Given the description of an element on the screen output the (x, y) to click on. 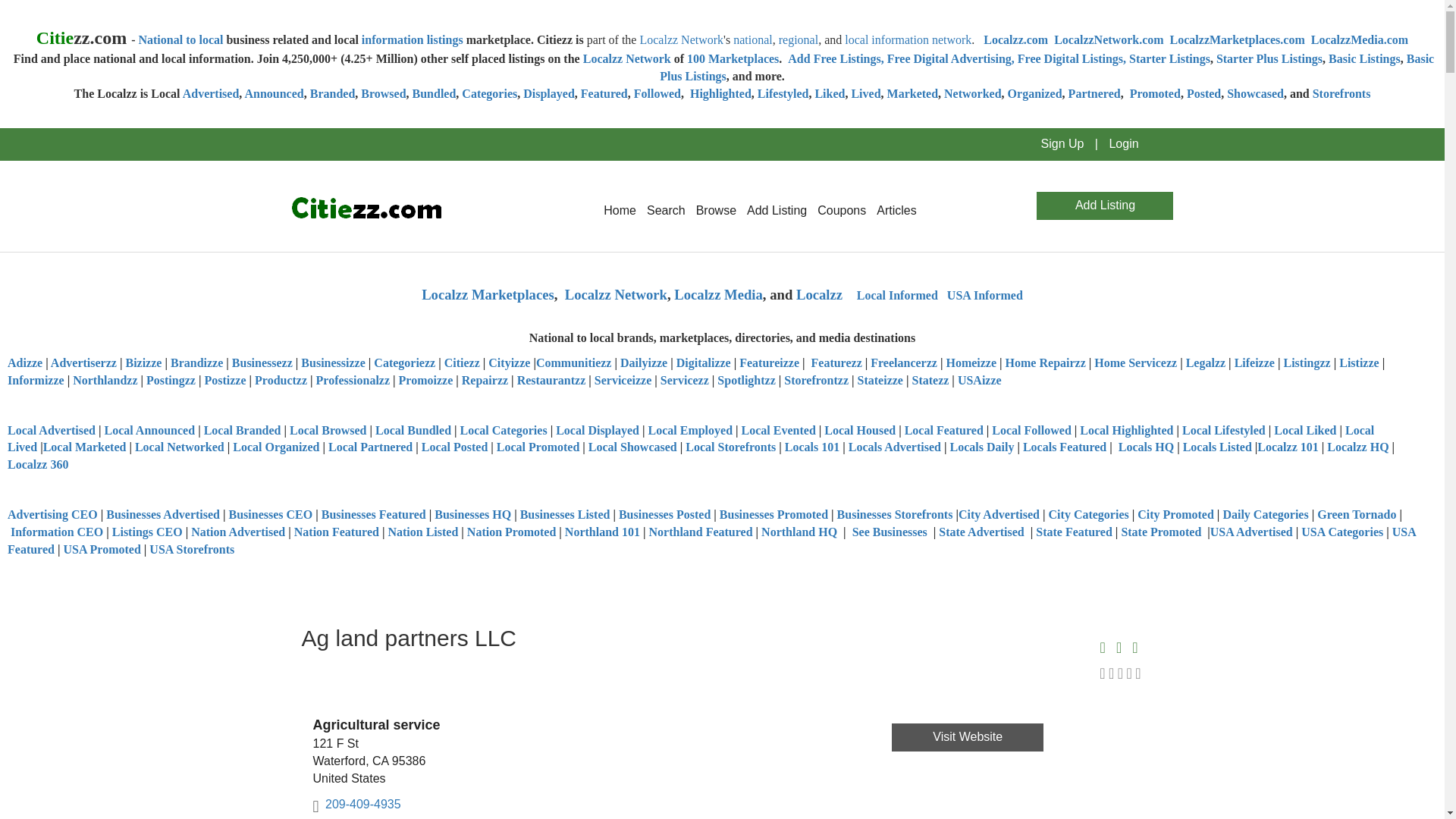
Lived (865, 92)
Localzz.com (1016, 39)
Liked (828, 92)
Basic Listings (1363, 58)
Browsed (383, 92)
local information network (907, 39)
Starter Listings (1169, 58)
Branded (332, 92)
Followed (657, 92)
100 Marketplaces (732, 58)
